Given the description of an element on the screen output the (x, y) to click on. 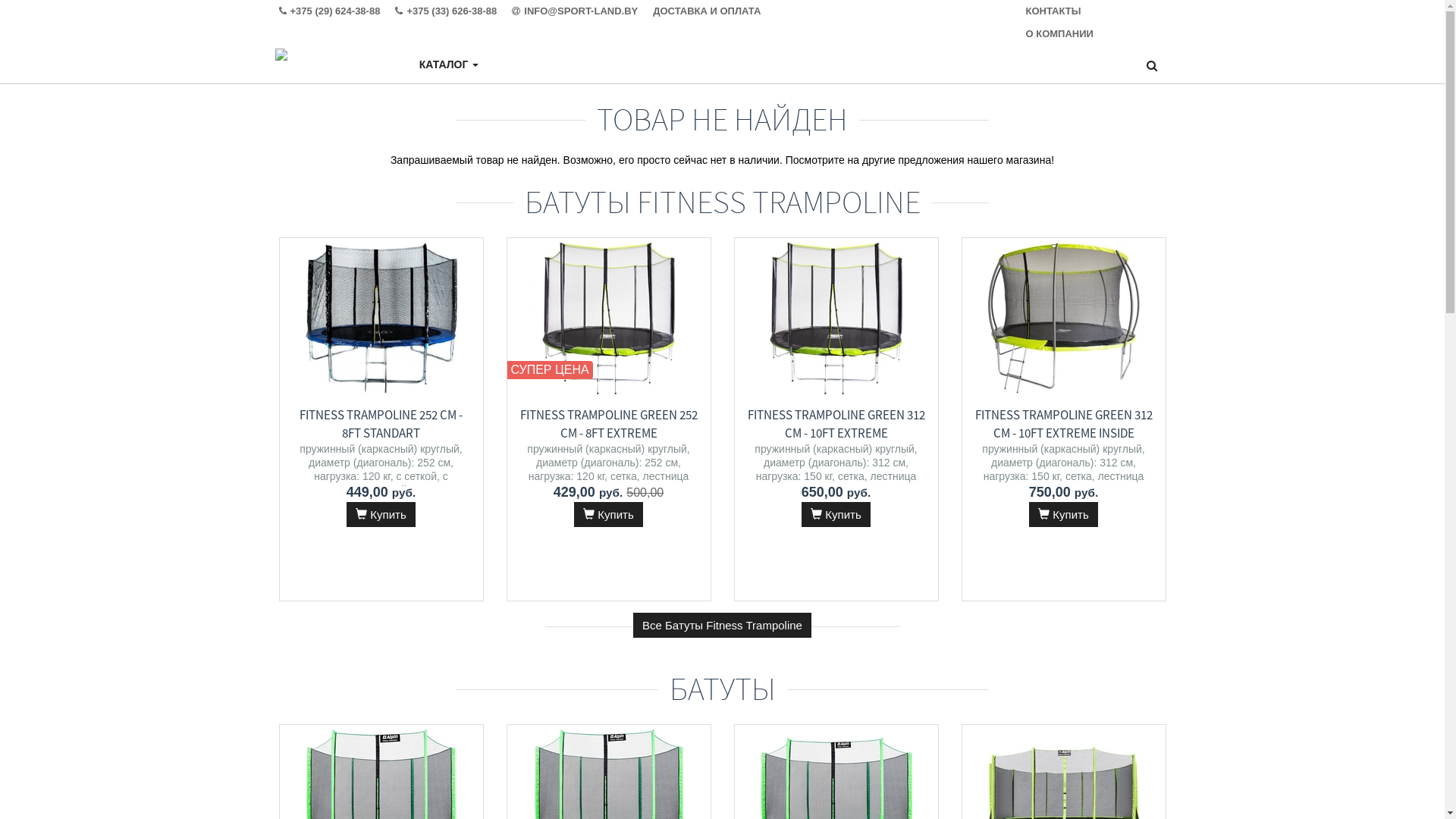
INFO@SPORT-LAND.BY Element type: text (581, 11)
+375 (33) 626-38-88 Element type: text (453, 11)
+375 (29) 624-38-88 Element type: text (337, 11)
